Given the description of an element on the screen output the (x, y) to click on. 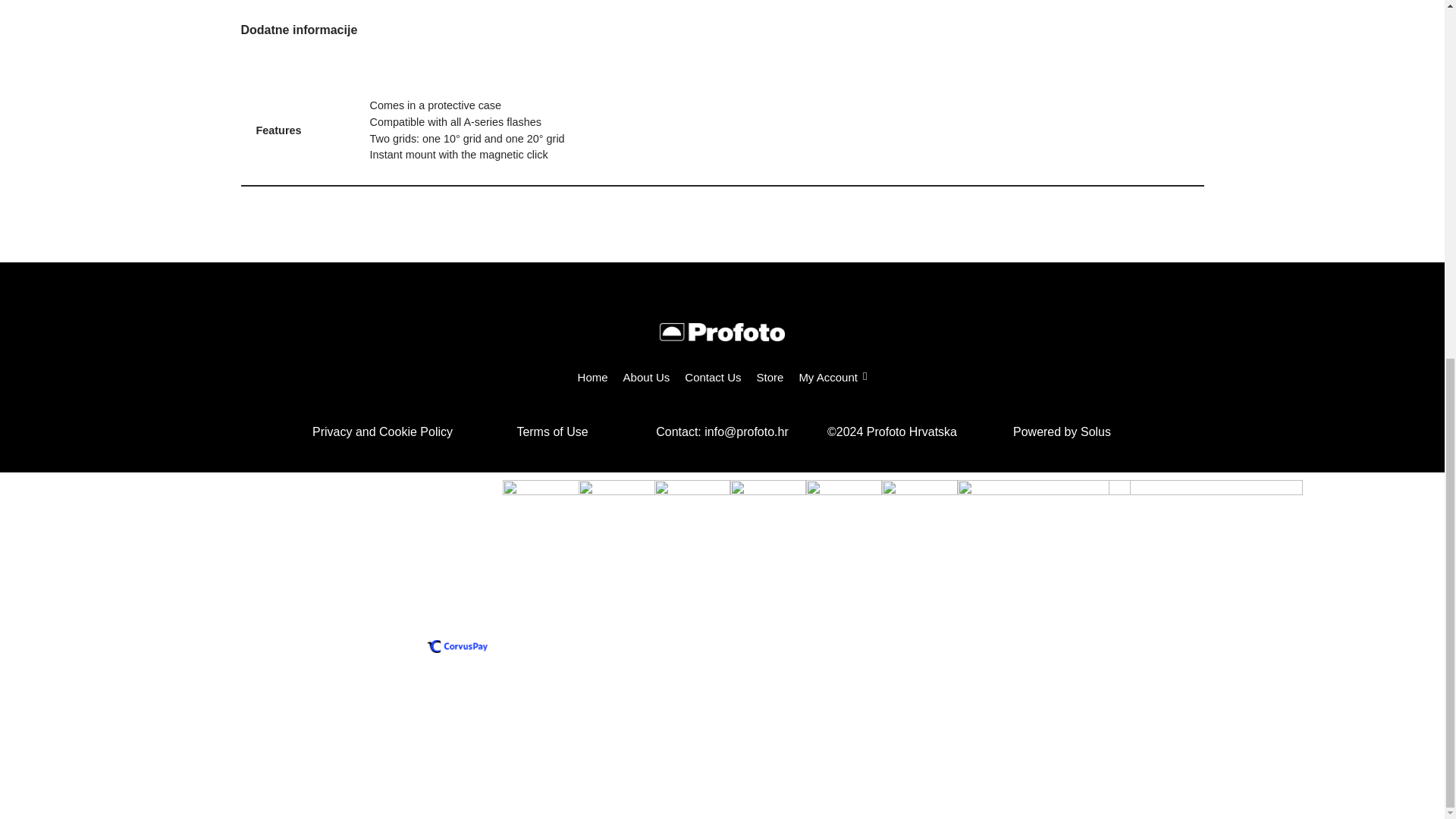
Dodatne informacije (299, 29)
Profoto Terms of Use (552, 431)
Solus (1095, 431)
Profoto Privacy and Cookie Policy (382, 431)
